Given the description of an element on the screen output the (x, y) to click on. 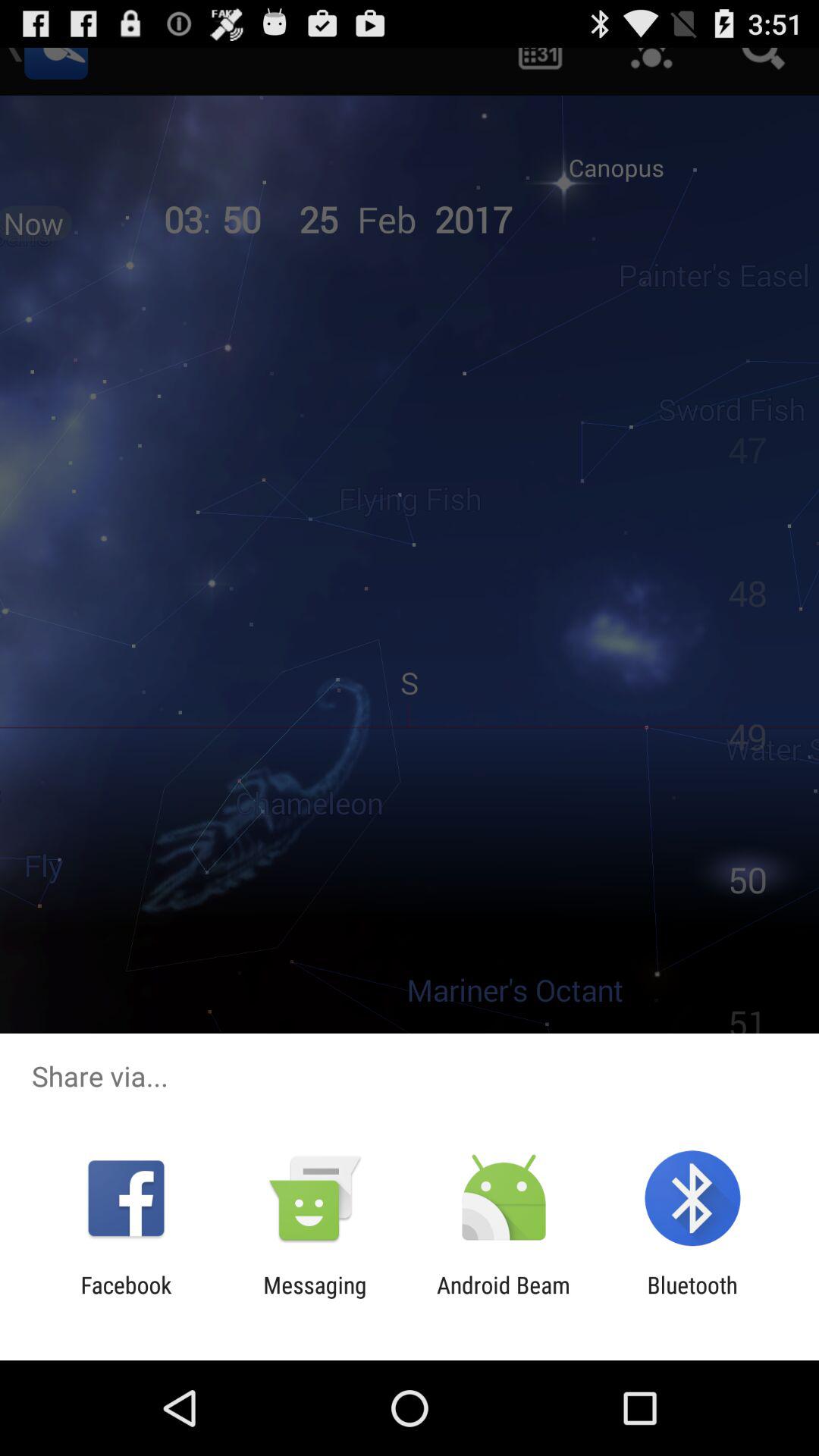
launch the app to the left of the android beam item (314, 1298)
